Given the description of an element on the screen output the (x, y) to click on. 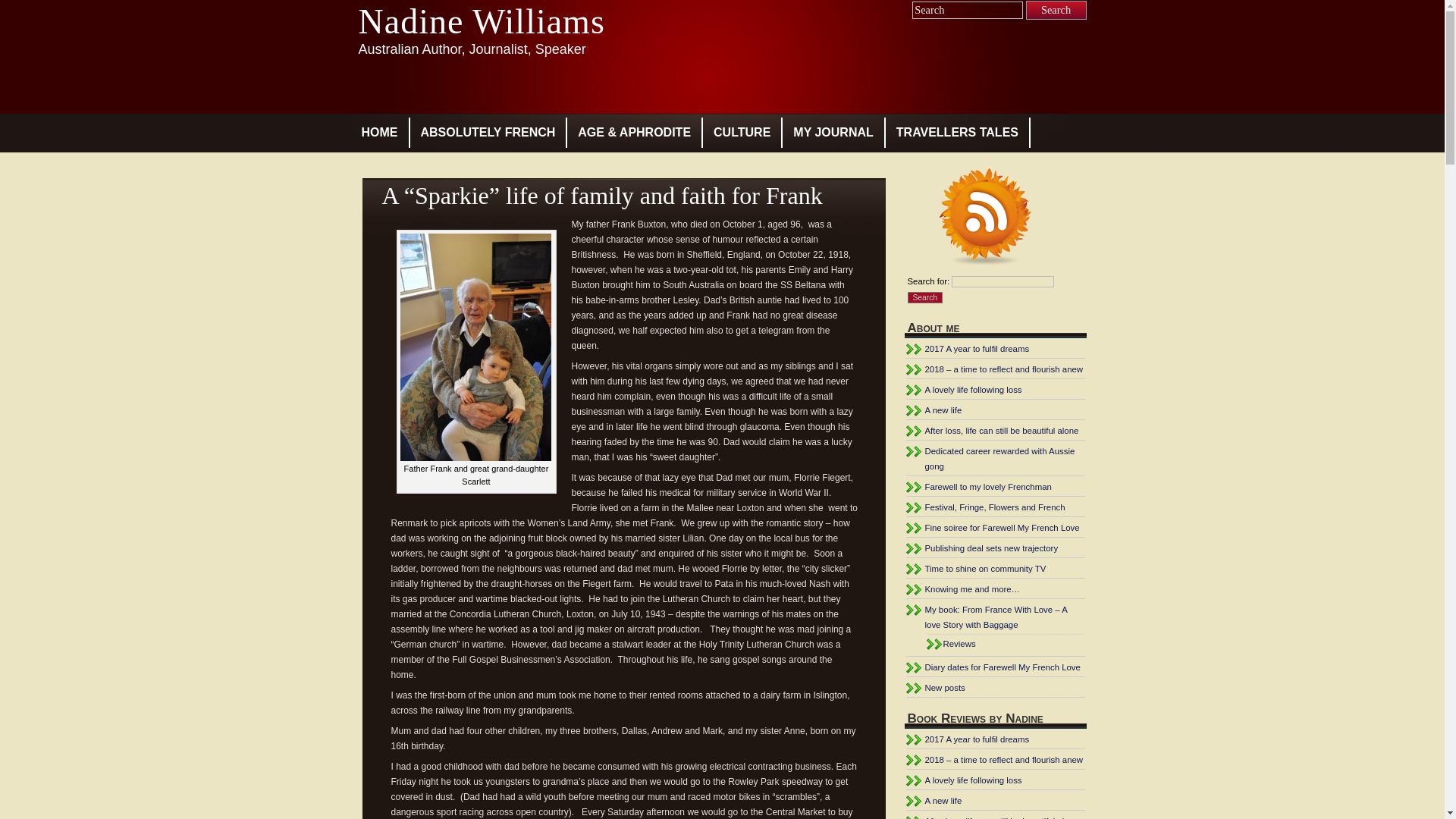
Time to shine on community TV Element type: text (985, 568)
Farewell to my lovely Frenchman Element type: text (988, 486)
Diary dates for Farewell My French Love Element type: text (1002, 666)
Search Element type: text (924, 297)
A new life Element type: text (943, 800)
After loss, life can still be beautiful alone Element type: text (1002, 430)
Search Element type: text (1055, 9)
TRAVELLERS TALES Element type: text (957, 132)
2017 A year to fulfil dreams Element type: text (977, 348)
A lovely life following loss Element type: text (973, 779)
2017 A year to fulfil dreams Element type: text (977, 738)
HOME Element type: text (378, 132)
New posts Element type: text (945, 687)
Subscribe to our RSS Feed! Element type: hover (995, 219)
Publishing deal sets new trajectory Element type: text (991, 547)
A lovely life following loss Element type: text (973, 389)
CULTURE Element type: text (741, 132)
Festival, Fringe, Flowers and French Element type: text (995, 506)
ABSOLUTELY FRENCH Element type: text (487, 132)
Nadine Williams Element type: text (480, 21)
Dedicated career rewarded with Aussie gong Element type: text (1000, 458)
A new life Element type: text (943, 409)
Fine soiree for Farewell My French Love Element type: text (1002, 527)
Reviews Element type: text (959, 643)
MY JOURNAL Element type: text (833, 132)
AGE & APHRODITE Element type: text (634, 132)
